Given the description of an element on the screen output the (x, y) to click on. 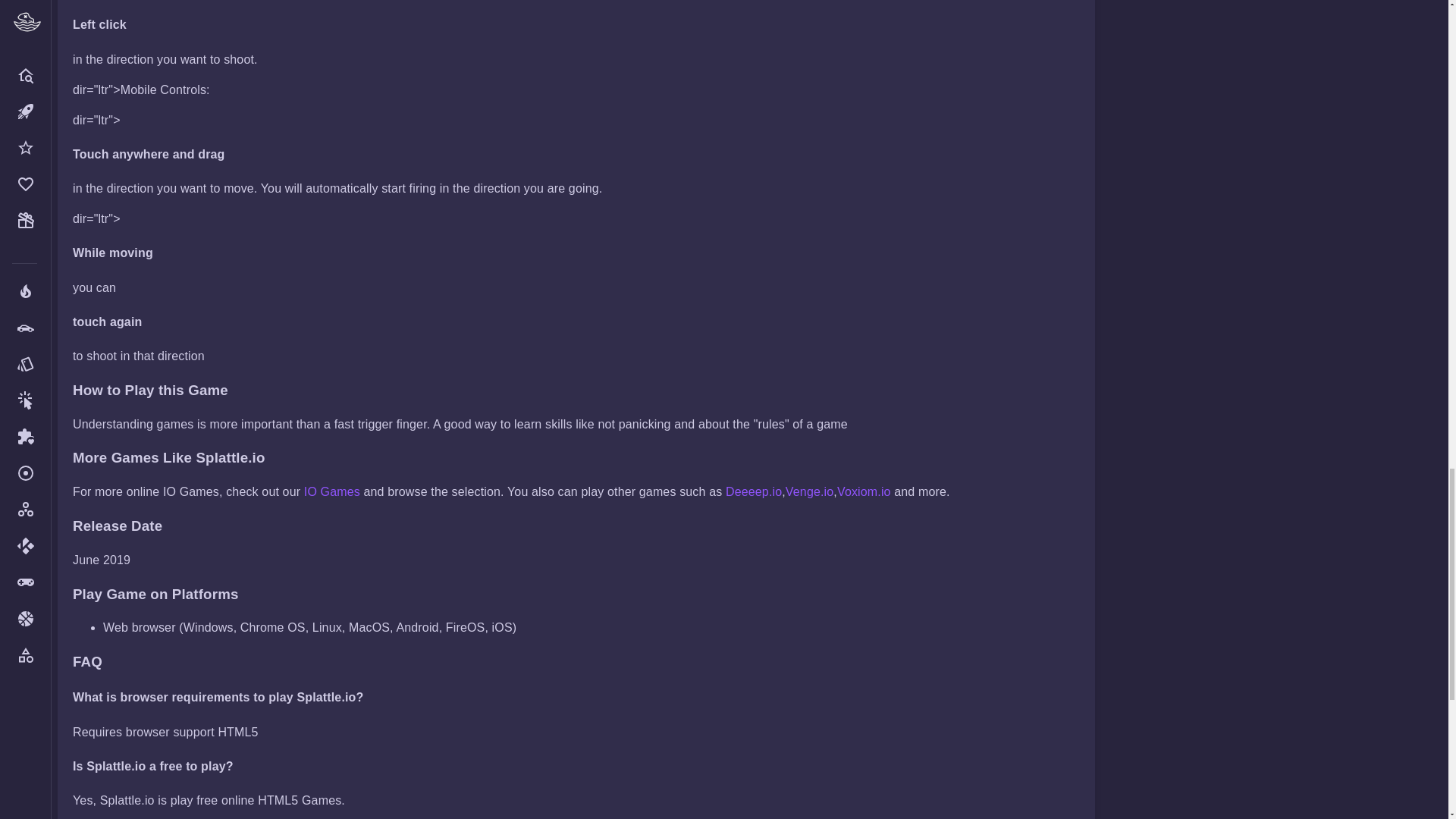
Voxiom.io (864, 491)
IO Games (331, 491)
Deeeep.io (753, 491)
Venge.io (809, 491)
